Given the description of an element on the screen output the (x, y) to click on. 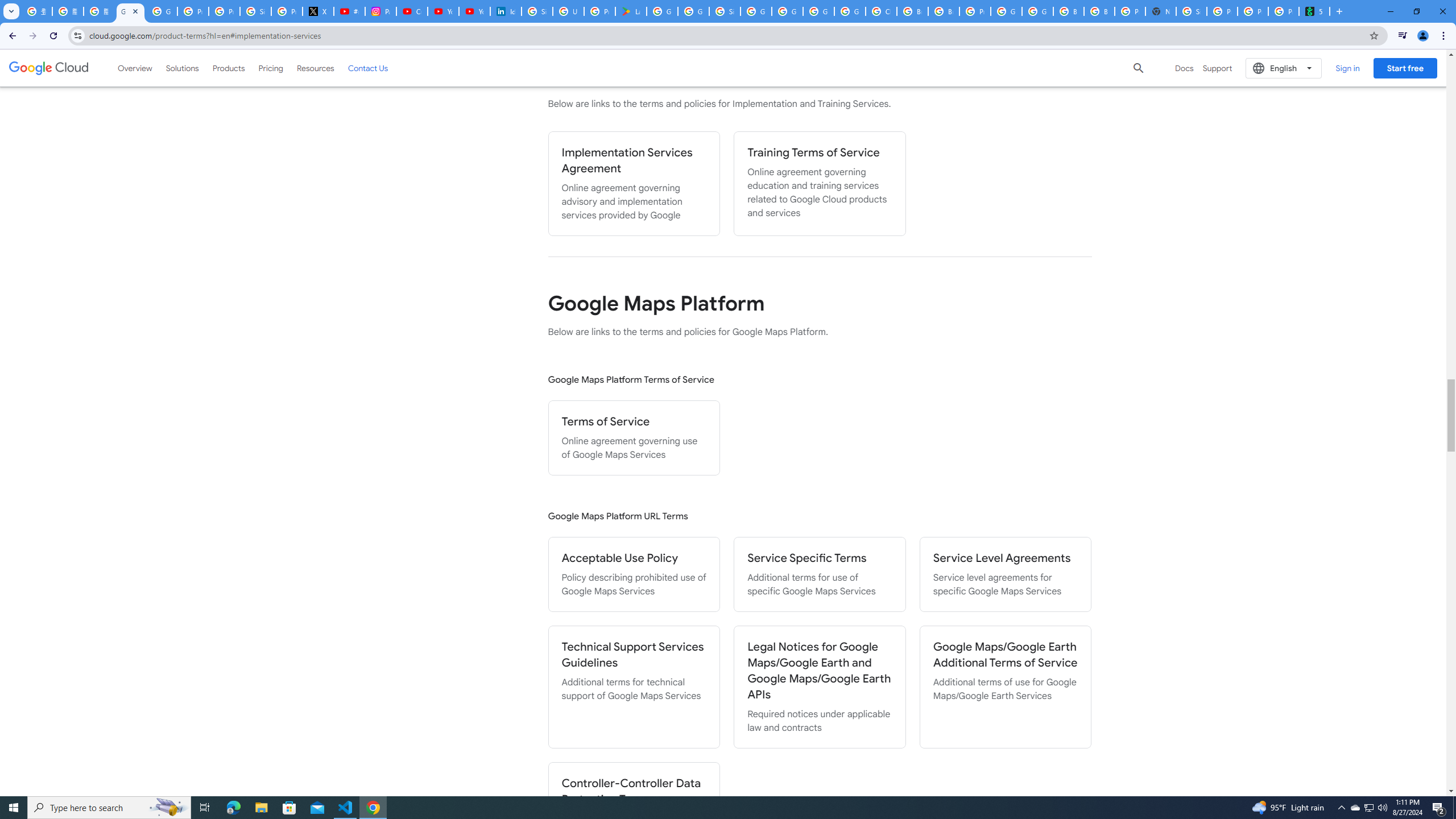
Google Workspace - Specific Terms (693, 11)
Products (228, 67)
